Given the description of an element on the screen output the (x, y) to click on. 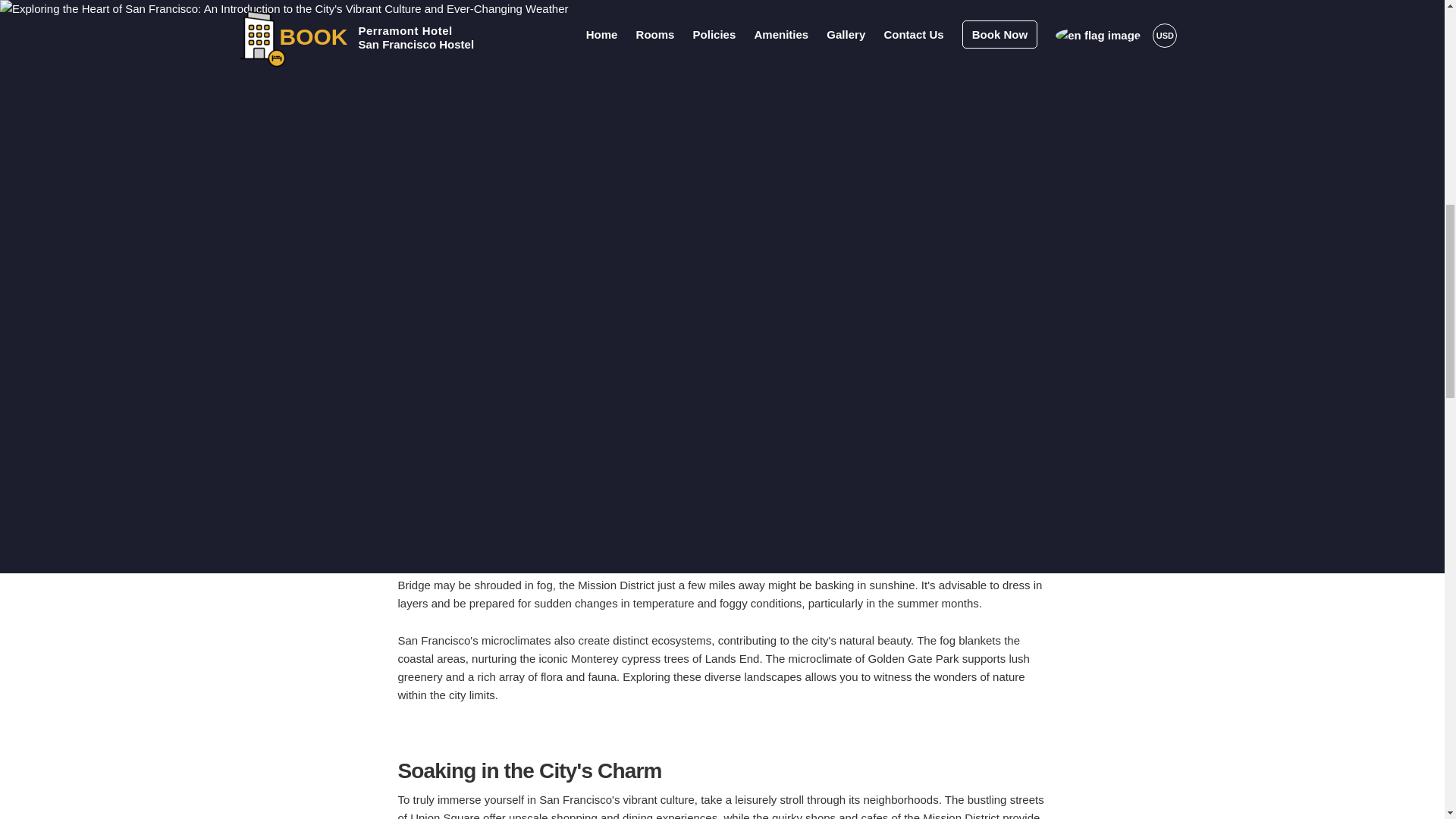
San Francisco (497, 34)
